Given the description of an element on the screen output the (x, y) to click on. 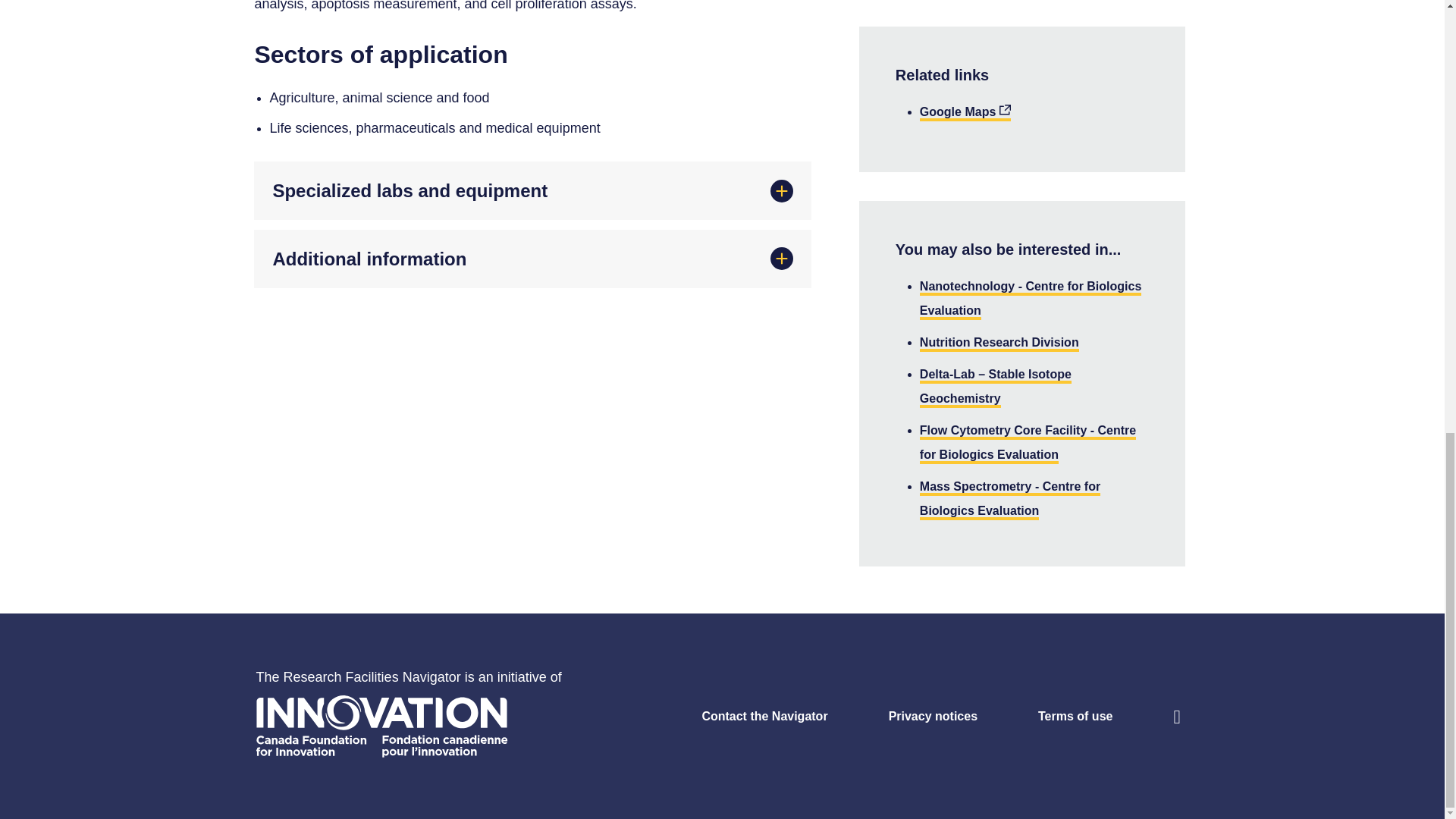
Privacy notices (902, 716)
Nutrition Research Division (999, 343)
Nanotechnology - Centre for Biologics Evaluation (1030, 300)
Contact the Navigator (733, 716)
Terms of use (1044, 716)
Google Maps (965, 113)
Mass Spectrometry - Centre for Biologics Evaluation (1010, 499)
